Given the description of an element on the screen output the (x, y) to click on. 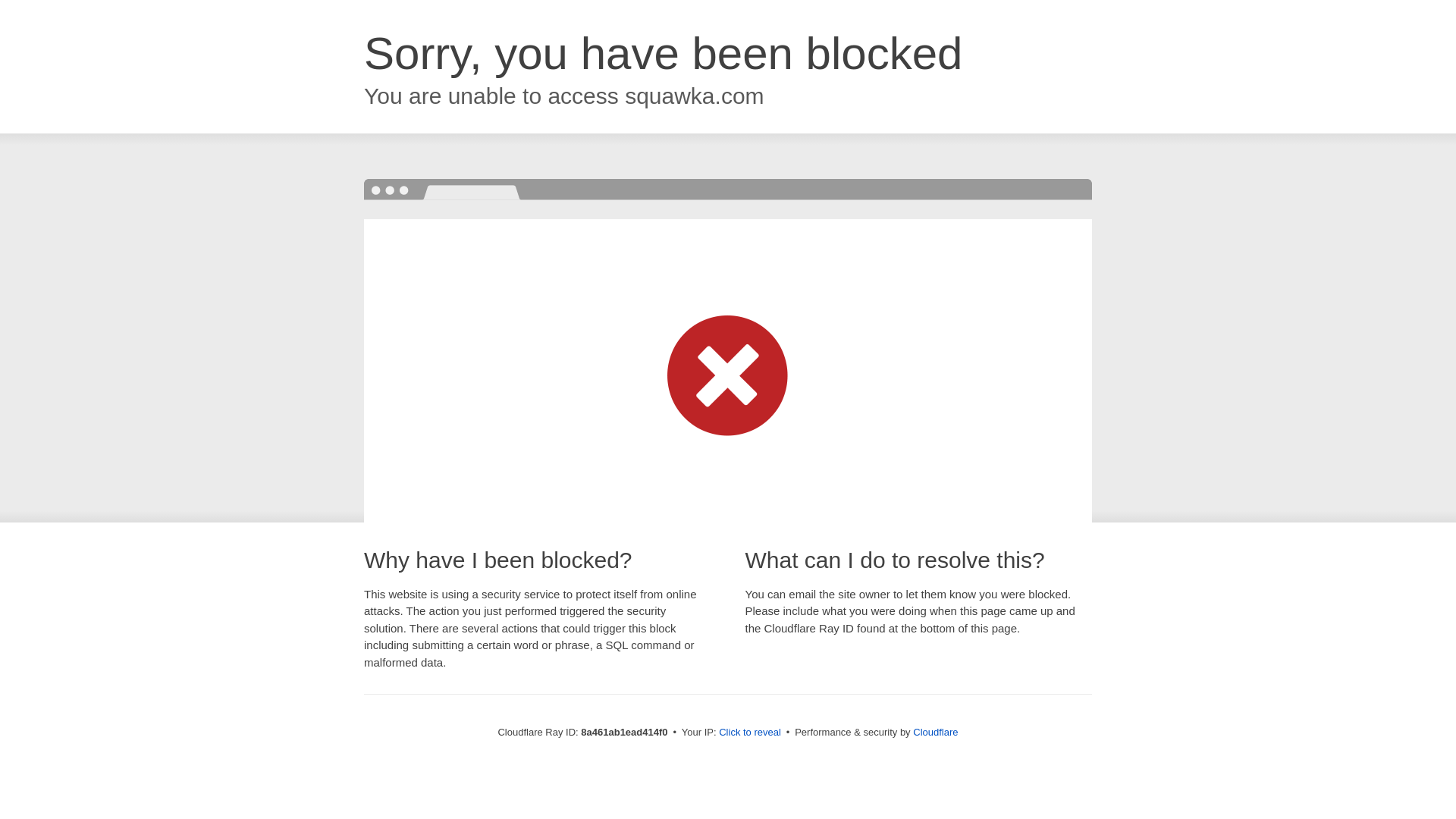
Click to reveal (749, 732)
Cloudflare (935, 731)
